Given the description of an element on the screen output the (x, y) to click on. 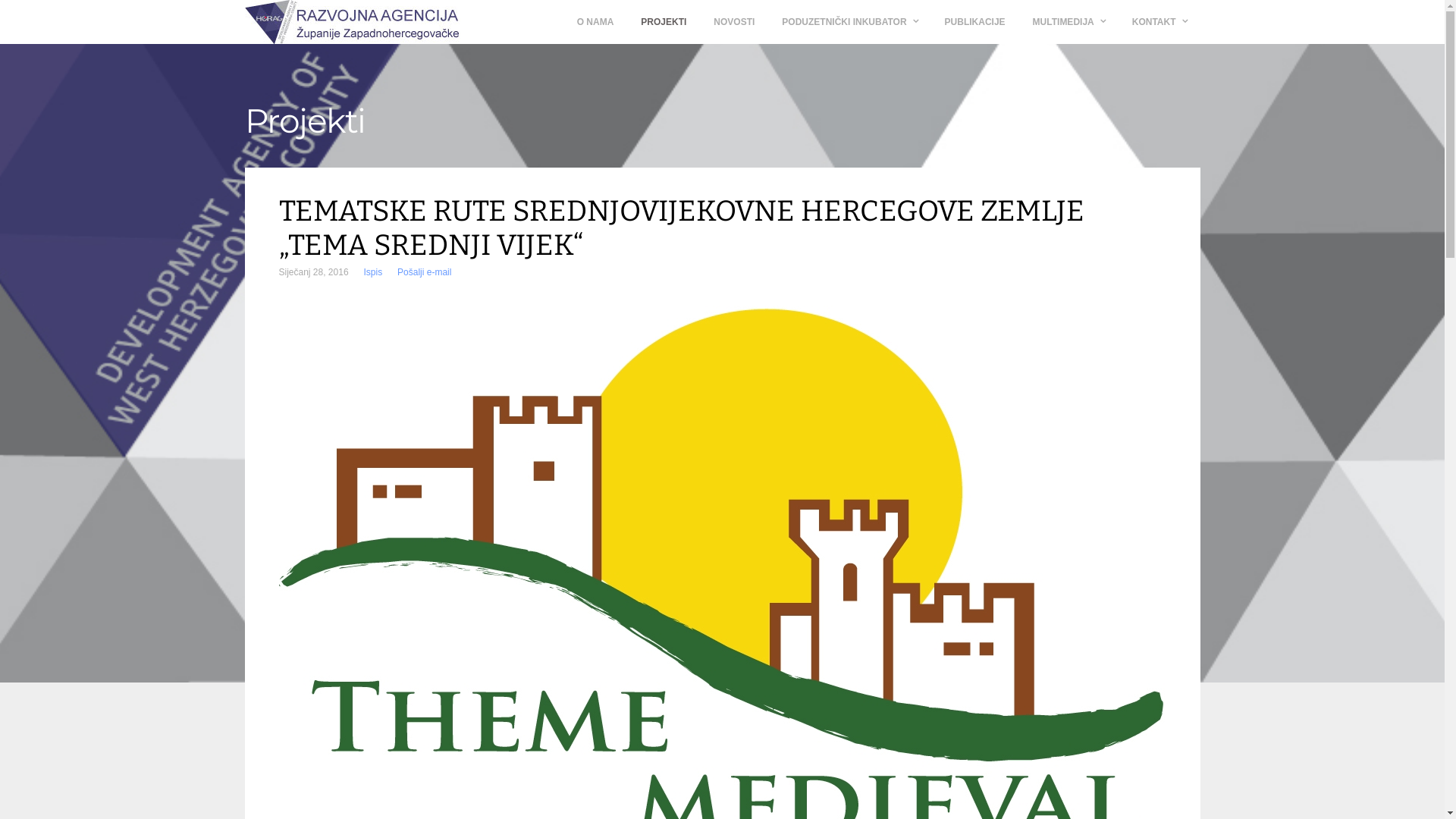
MULTIMEDIJA Element type: text (1068, 21)
PROJEKTI Element type: text (663, 21)
KONTAKT Element type: text (1159, 21)
Ispis Element type: text (372, 271)
NOVOSTI Element type: text (733, 21)
O NAMA Element type: text (595, 21)
PUBLIKACIJE Element type: text (975, 21)
